Given the description of an element on the screen output the (x, y) to click on. 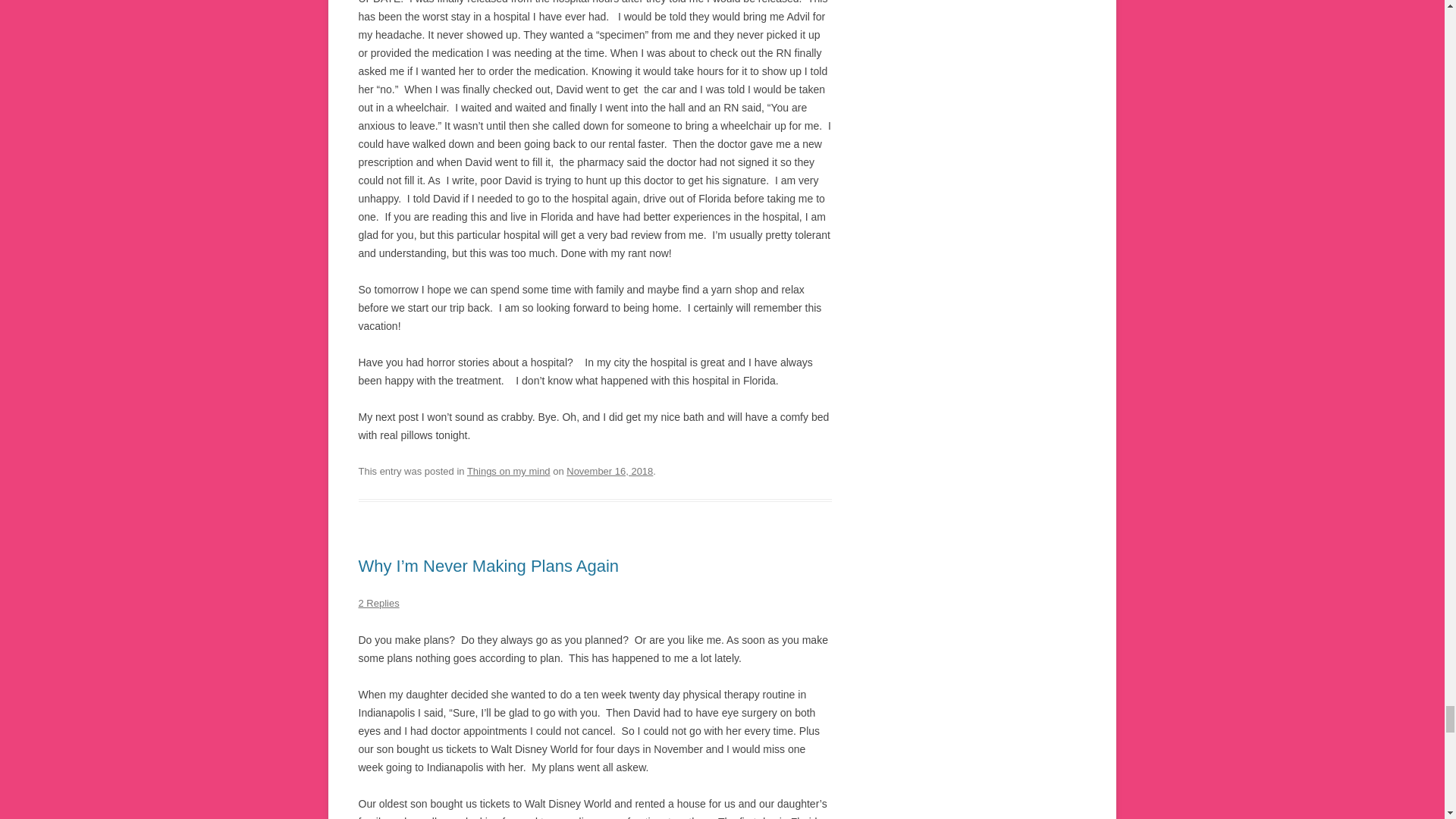
11:32 pm (609, 471)
